Given the description of an element on the screen output the (x, y) to click on. 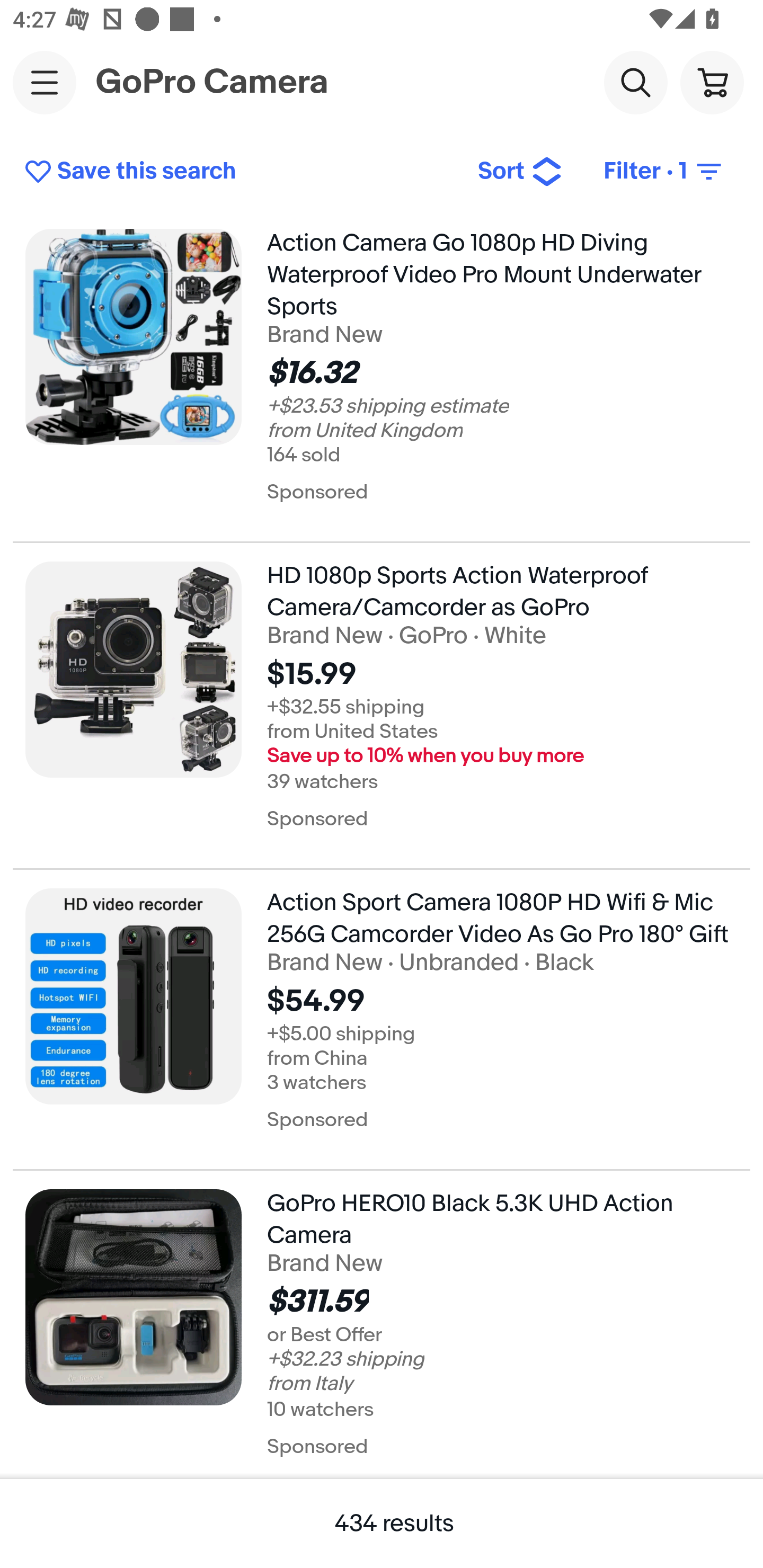
Main navigation, open (44, 82)
Search (635, 81)
Cart button shopping cart (711, 81)
Save this search (237, 171)
Sort (520, 171)
Filter • 1 Filter (1 applied) (663, 171)
